Given the description of an element on the screen output the (x, y) to click on. 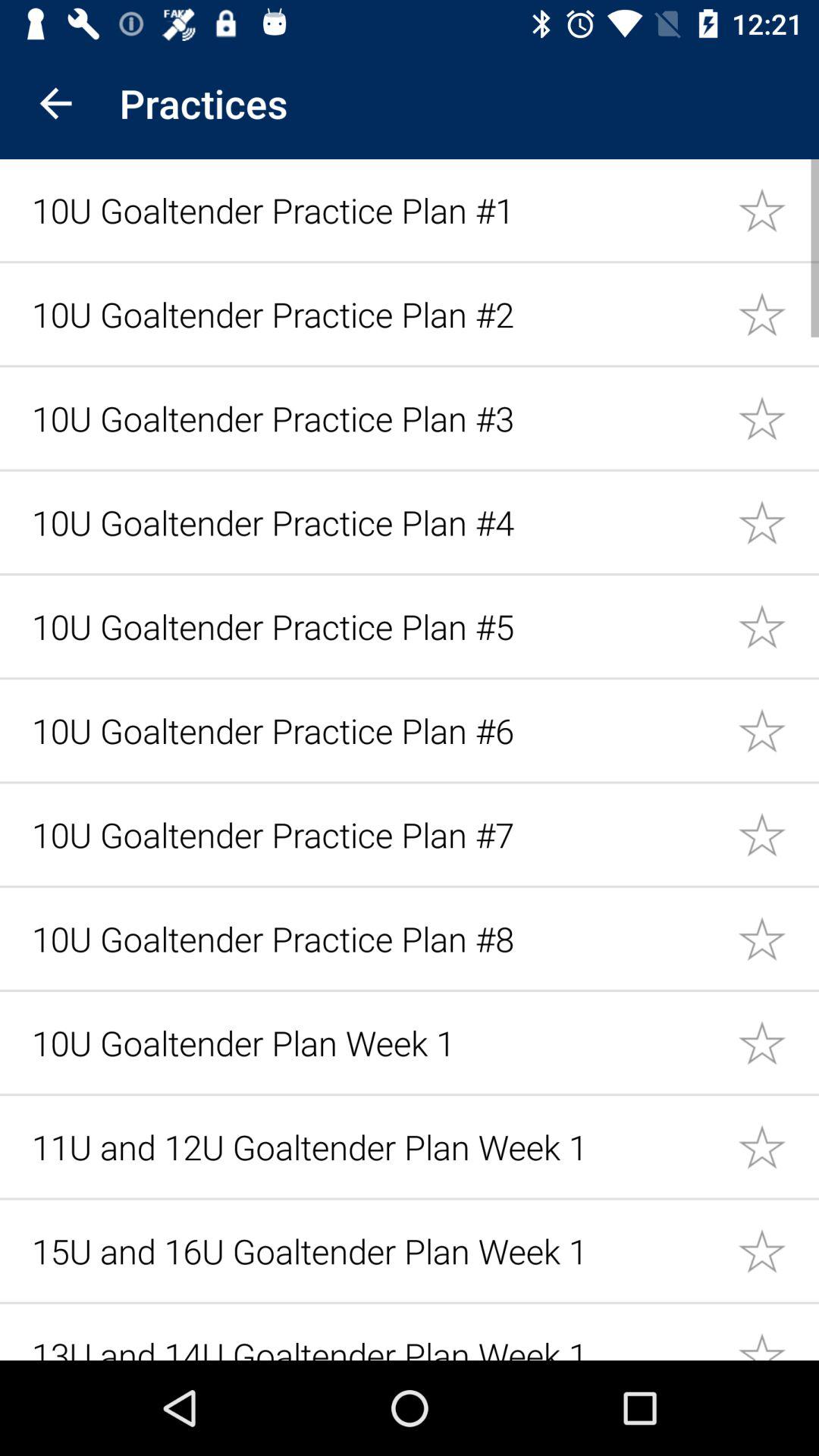
add favorite (778, 626)
